Given the description of an element on the screen output the (x, y) to click on. 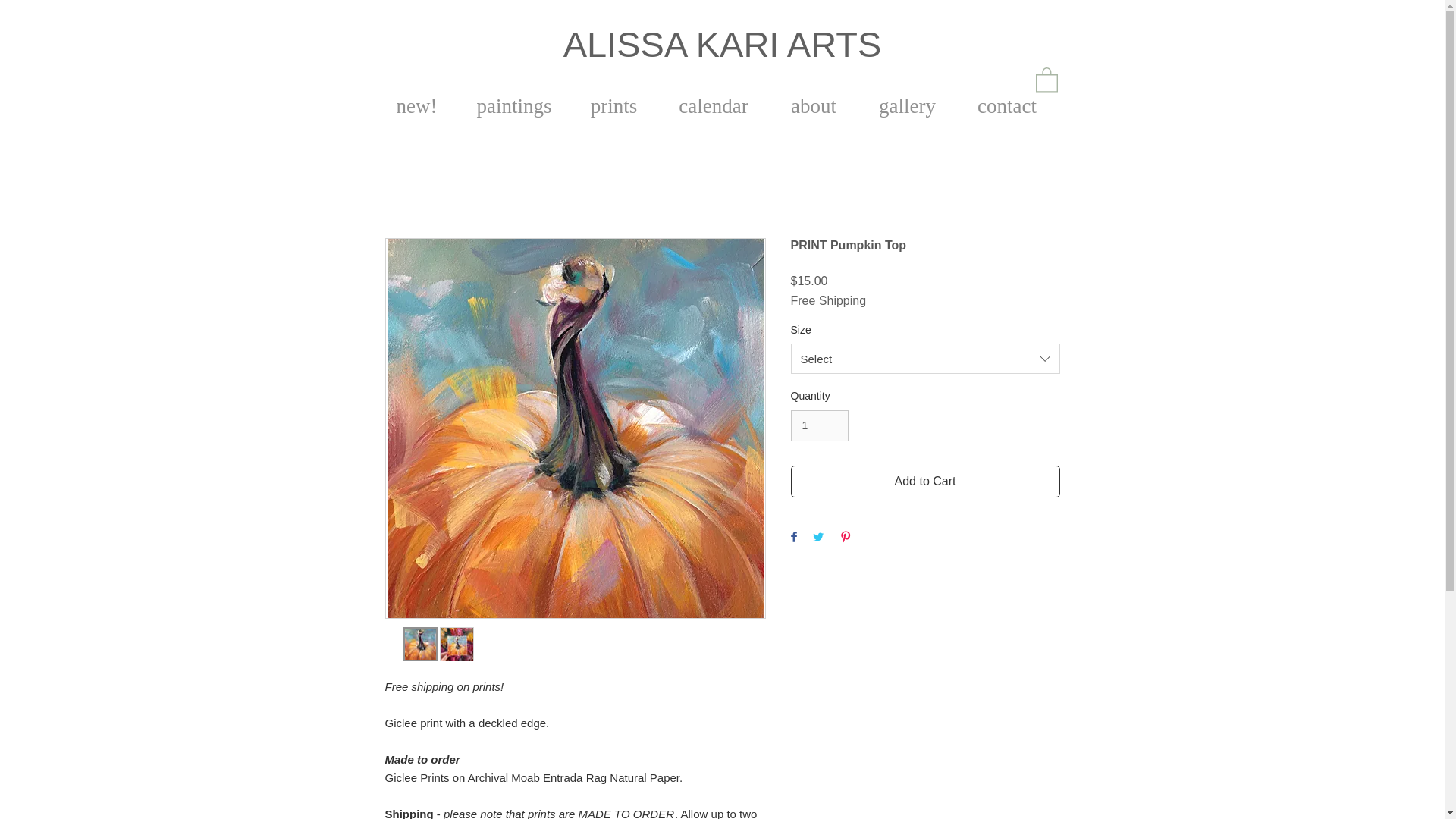
calendar (714, 103)
new! (416, 103)
ALISSA KARI ARTS (722, 44)
Free Shipping (828, 300)
Select (924, 358)
1 (818, 425)
about (812, 103)
gallery (907, 103)
prints (614, 103)
paintings (513, 103)
